Given the description of an element on the screen output the (x, y) to click on. 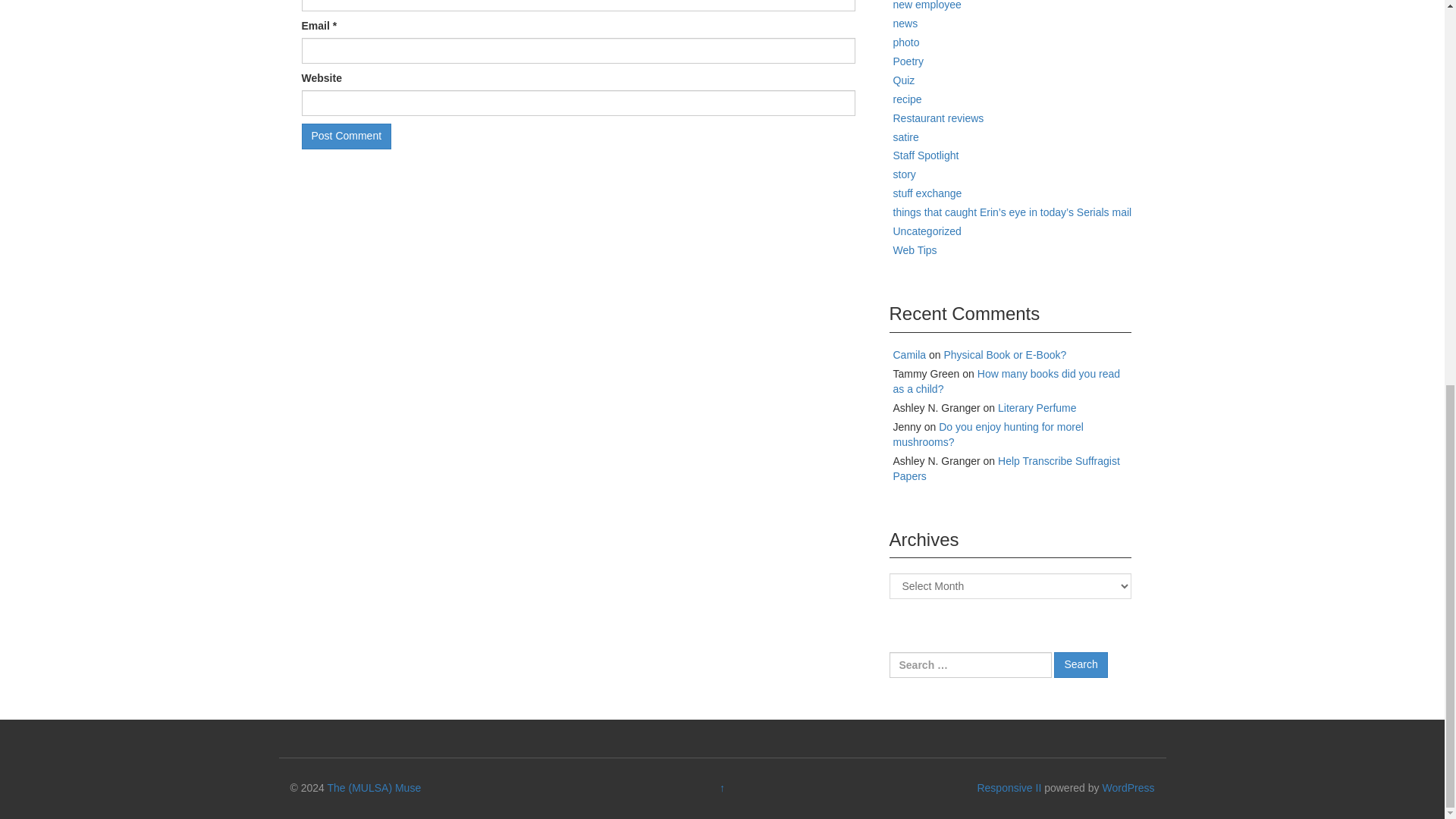
Search (1080, 664)
Search (1080, 664)
photo (906, 42)
Post Comment (346, 136)
news (905, 23)
Post Comment (346, 136)
new employee (926, 5)
